Given the description of an element on the screen output the (x, y) to click on. 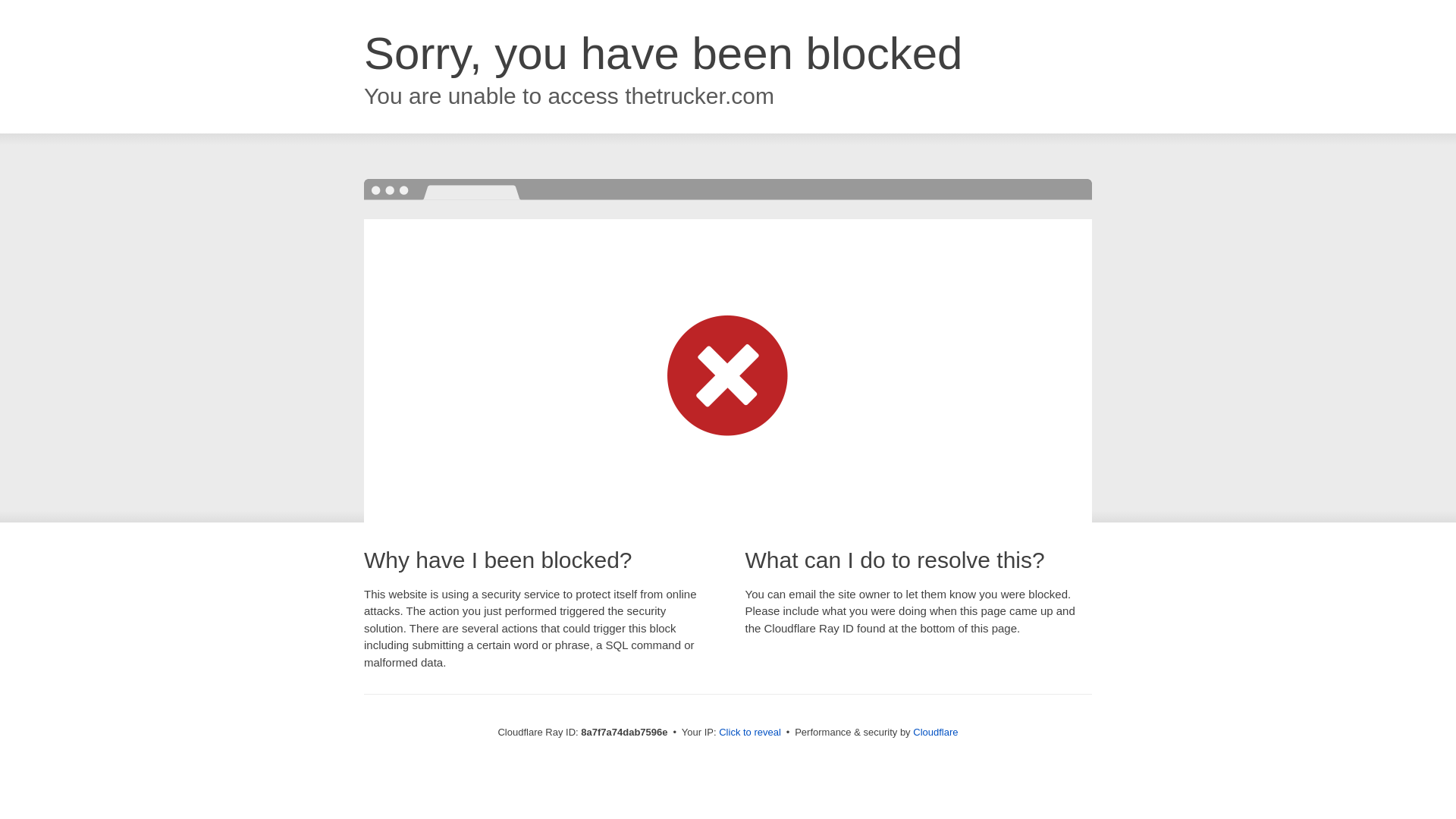
Click to reveal (749, 732)
Cloudflare (935, 731)
